Given the description of an element on the screen output the (x, y) to click on. 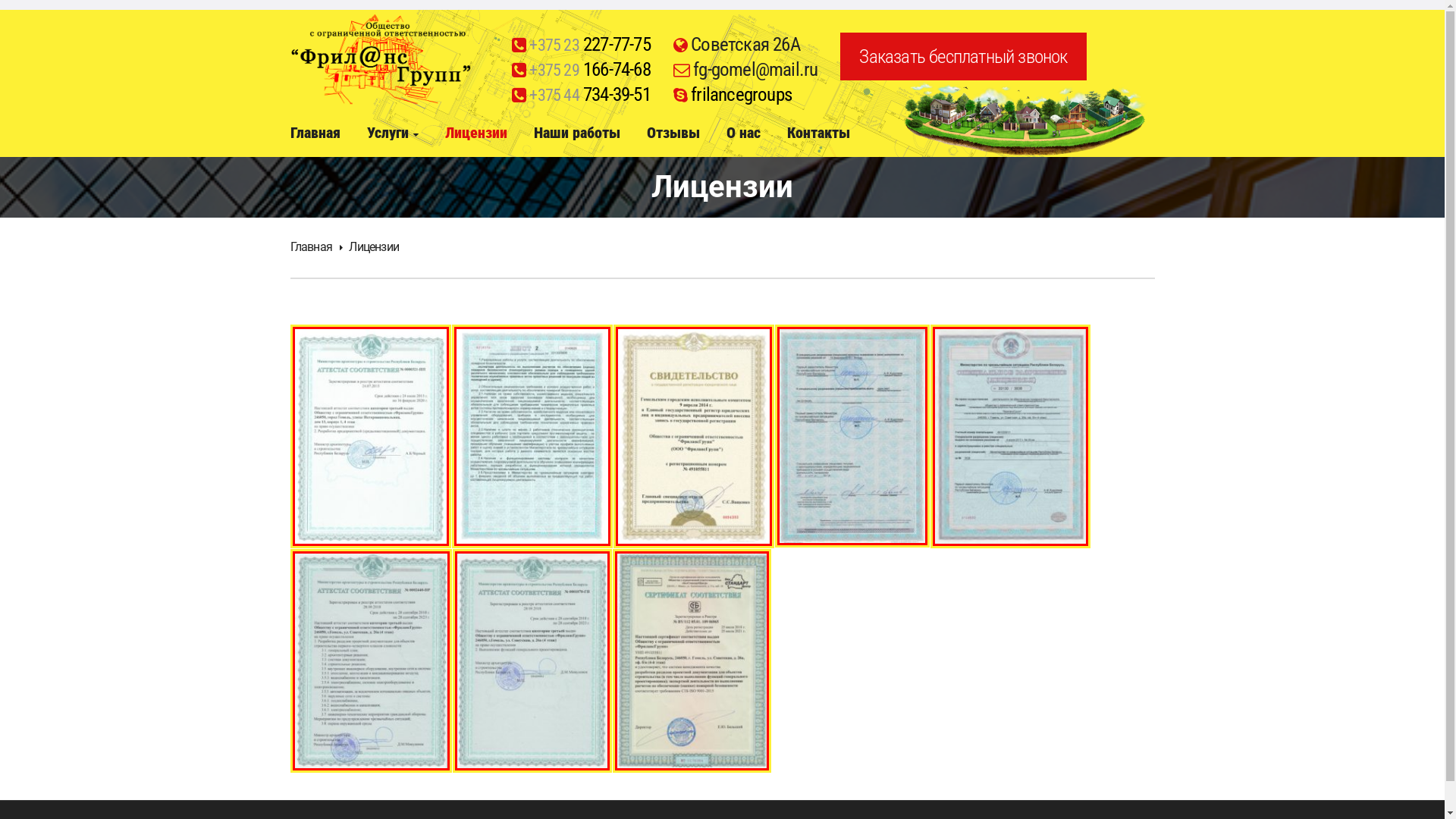
fg-gomel@mail.ru Element type: text (755, 69)
